Given the description of an element on the screen output the (x, y) to click on. 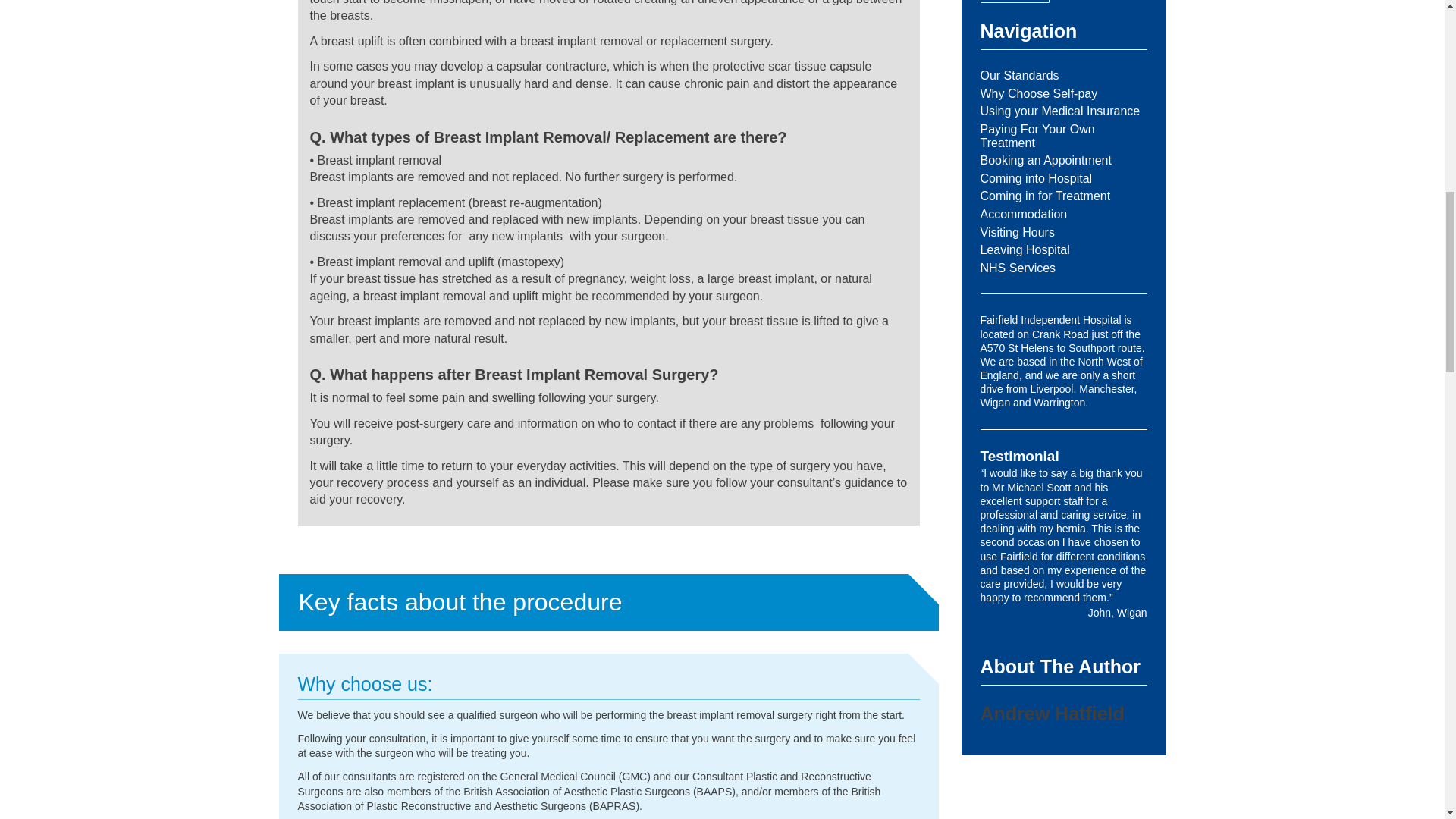
Submit (1014, 1)
